Given the description of an element on the screen output the (x, y) to click on. 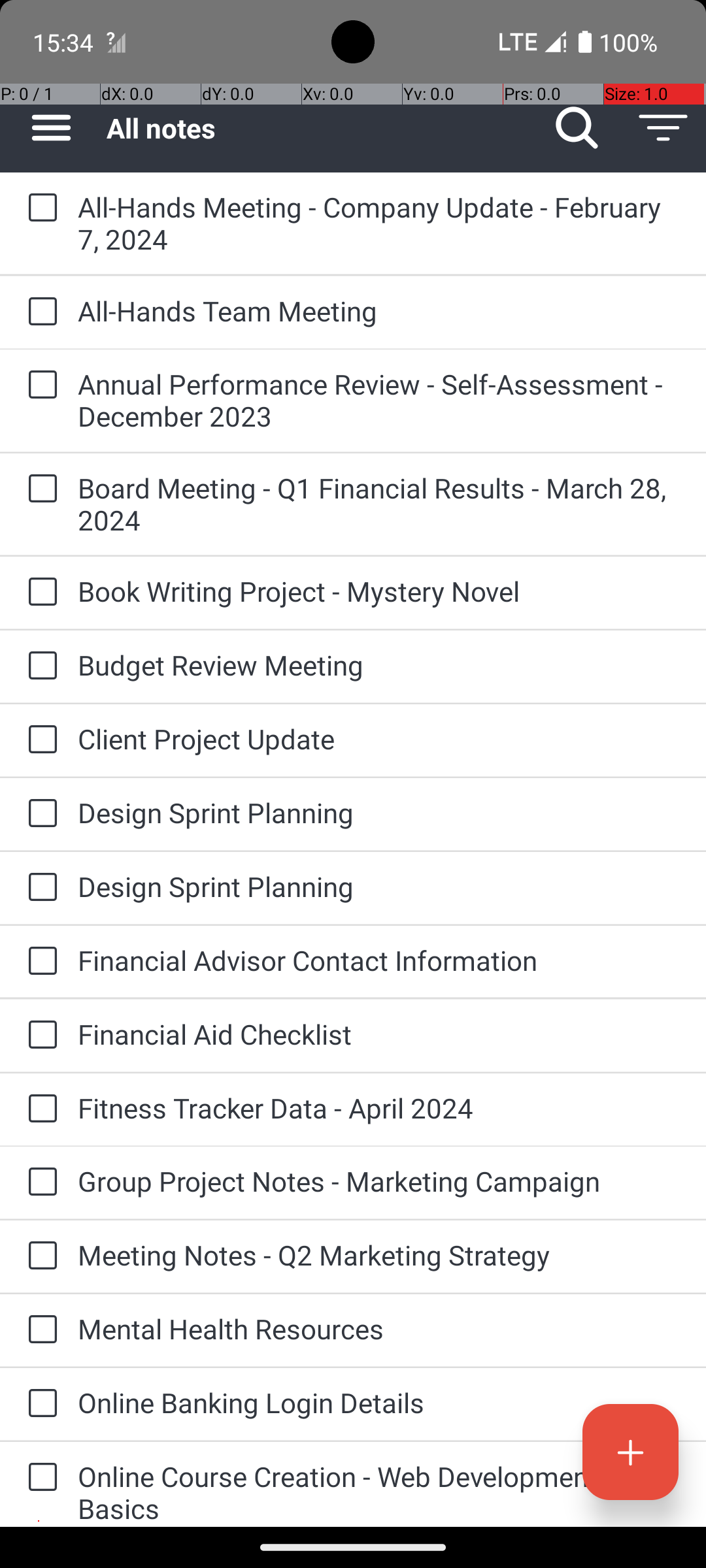
to-do: All-Hands Meeting - Company Update - February 7, 2024 Element type: android.widget.CheckBox (38, 208)
All-Hands Meeting - Company Update - February 7, 2024 Element type: android.widget.TextView (378, 222)
to-do: All-Hands Team Meeting Element type: android.widget.CheckBox (38, 312)
All-Hands Team Meeting Element type: android.widget.TextView (378, 310)
to-do: Board Meeting - Q1 Financial Results - March 28, 2024 Element type: android.widget.CheckBox (38, 489)
Board Meeting - Q1 Financial Results - March 28, 2024 Element type: android.widget.TextView (378, 503)
to-do: Book Writing Project - Mystery Novel Element type: android.widget.CheckBox (38, 592)
Book Writing Project - Mystery Novel Element type: android.widget.TextView (378, 590)
to-do: Budget Review Meeting Element type: android.widget.CheckBox (38, 666)
Budget Review Meeting Element type: android.widget.TextView (378, 664)
to-do: Client Project Update Element type: android.widget.CheckBox (38, 740)
Client Project Update Element type: android.widget.TextView (378, 738)
to-do: Design Sprint Planning Element type: android.widget.CheckBox (38, 813)
Design Sprint Planning Element type: android.widget.TextView (378, 812)
to-do: Financial Aid Checklist Element type: android.widget.CheckBox (38, 1035)
Financial Aid Checklist Element type: android.widget.TextView (378, 1033)
to-do: Fitness Tracker Data - April 2024 Element type: android.widget.CheckBox (38, 1109)
Fitness Tracker Data - April 2024 Element type: android.widget.TextView (378, 1107)
to-do: Meeting Notes - Q2 Marketing Strategy Element type: android.widget.CheckBox (38, 1256)
Meeting Notes - Q2 Marketing Strategy Element type: android.widget.TextView (378, 1254)
to-do: Mental Health Resources Element type: android.widget.CheckBox (38, 1330)
Mental Health Resources Element type: android.widget.TextView (378, 1328)
to-do: Online Banking Login Details Element type: android.widget.CheckBox (38, 1404)
Online Banking Login Details Element type: android.widget.TextView (378, 1402)
to-do: Online Course Creation - Web Development Basics Element type: android.widget.CheckBox (38, 1477)
Online Course Creation - Web Development Basics Element type: android.widget.TextView (378, 1491)
